Given the description of an element on the screen output the (x, y) to click on. 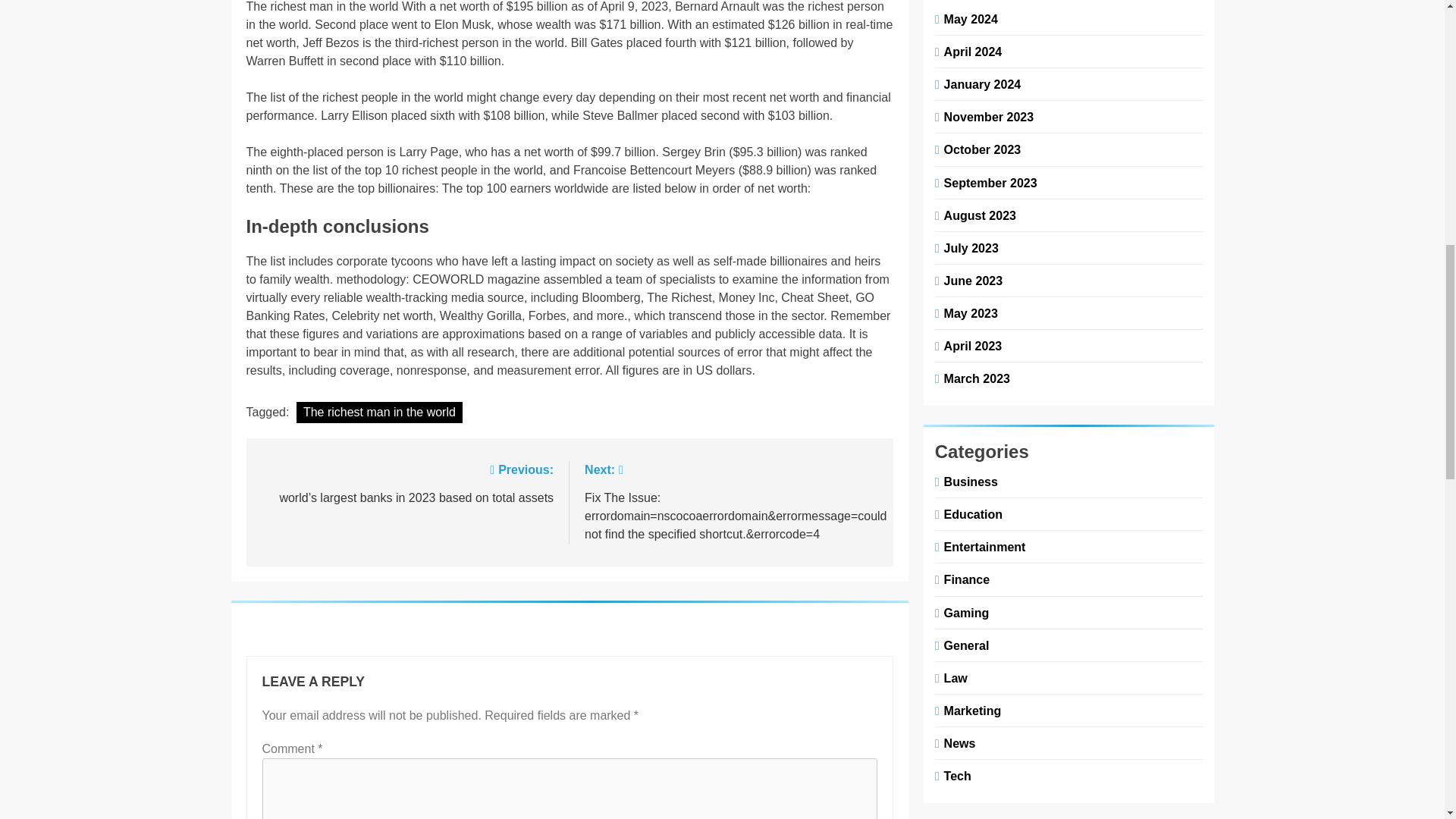
The richest man in the world (380, 412)
